Given the description of an element on the screen output the (x, y) to click on. 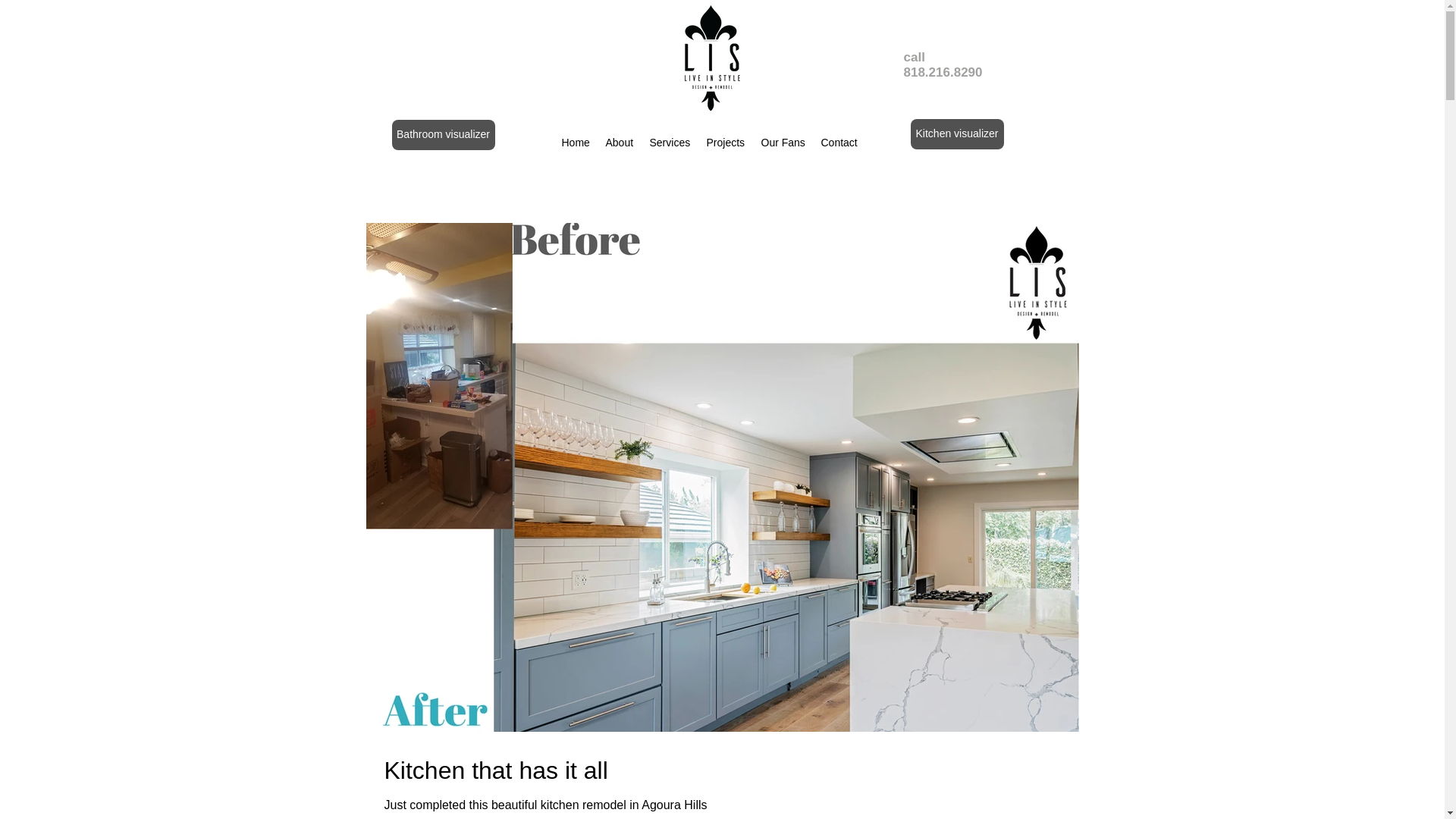
Projects (726, 142)
Our Fans (783, 142)
Home (574, 142)
Bathroom visualizer (443, 134)
Contact (839, 142)
About (619, 142)
Services (670, 142)
Kitchen that has it all (721, 770)
Kitchen visualizer (956, 133)
